Given the description of an element on the screen output the (x, y) to click on. 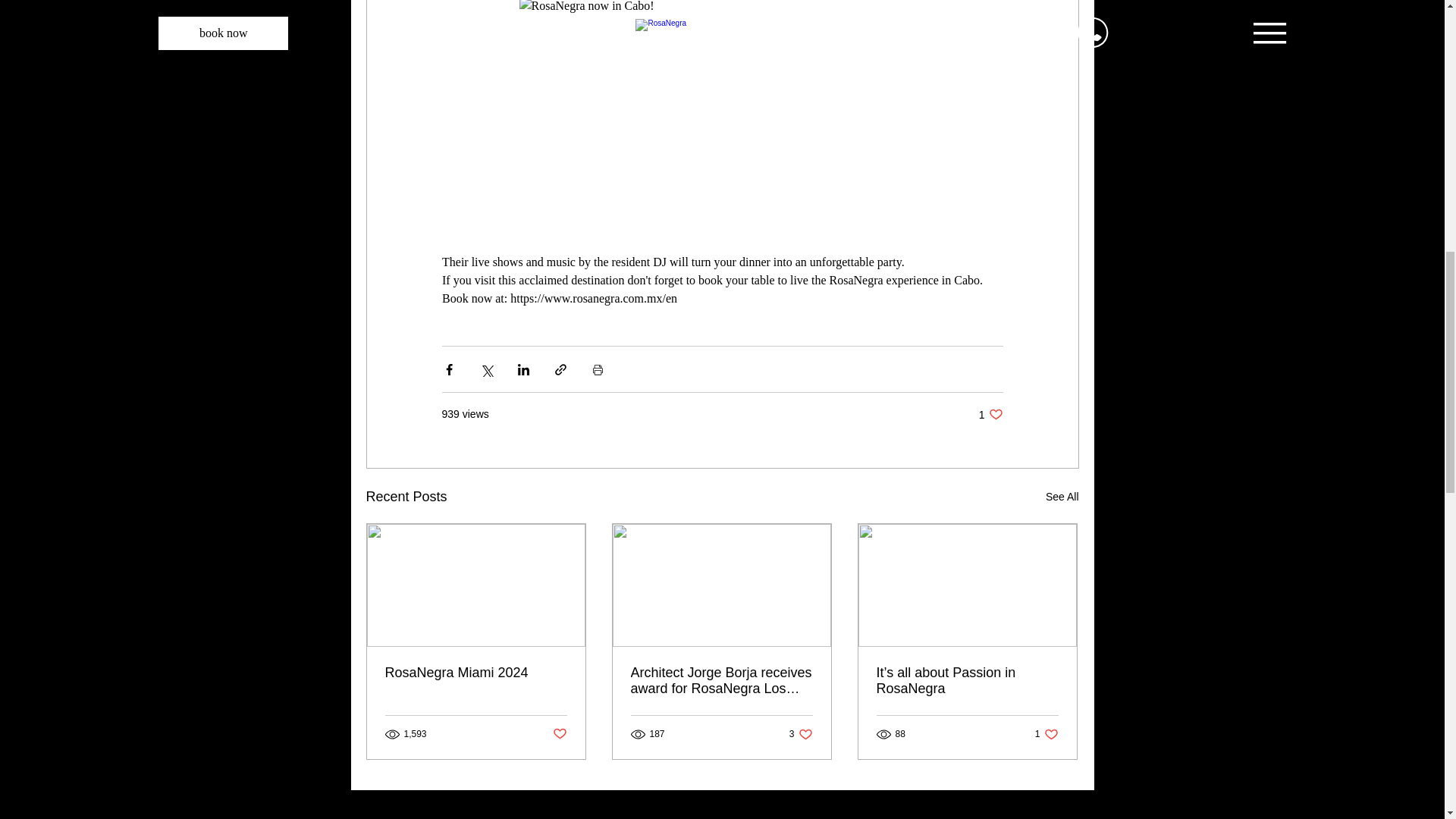
Architect Jorge Borja receives award for RosaNegra Los Cabos (990, 414)
See All (721, 680)
Post not marked as liked (800, 734)
RosaNegra Miami 2024 (1061, 496)
